Given the description of an element on the screen output the (x, y) to click on. 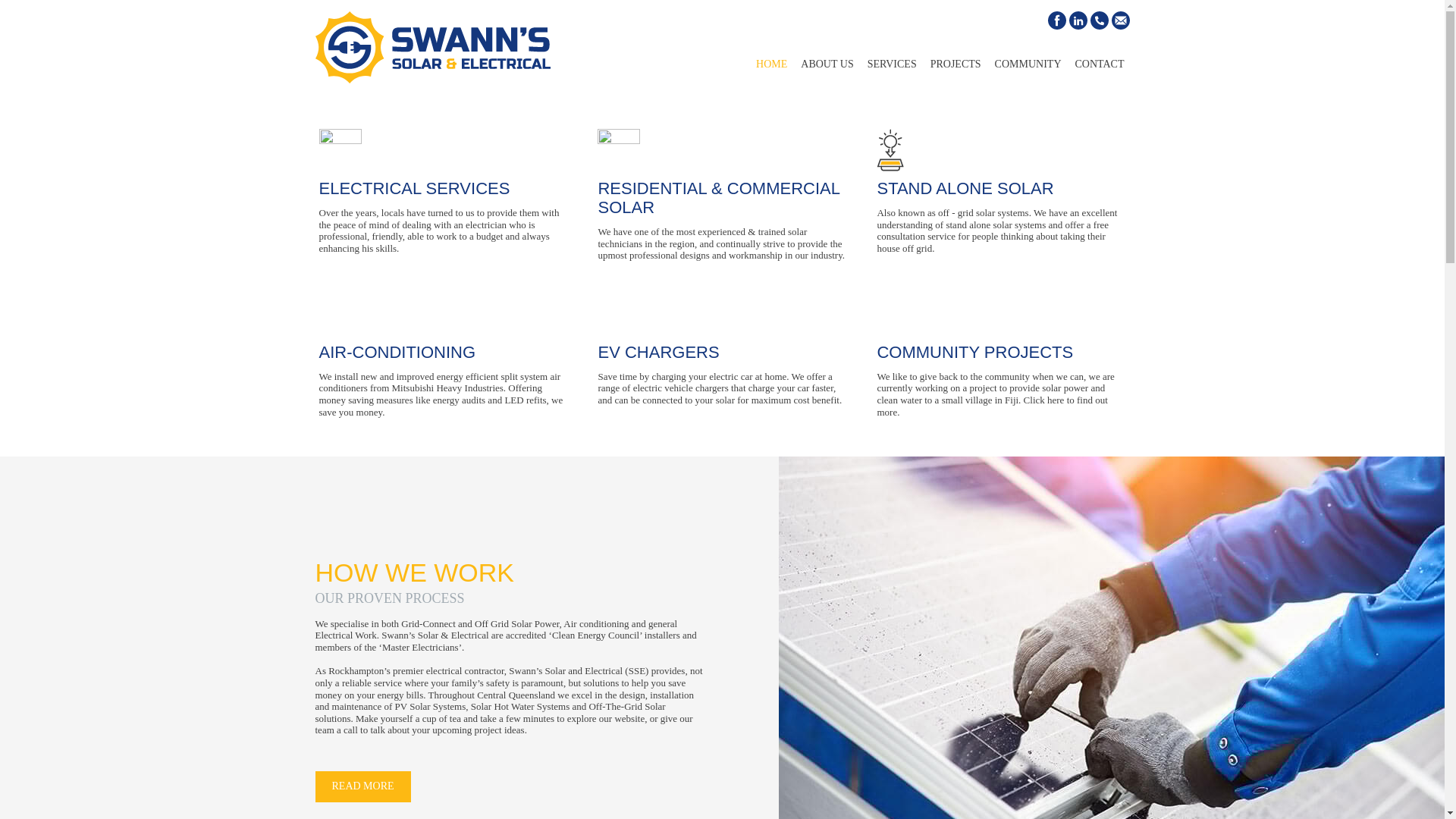
CONTACT (1098, 69)
PROJECTS (955, 69)
READ MORE (362, 786)
HOME (771, 69)
COMMUNITY (1028, 69)
ABOUT US (826, 69)
